Given the description of an element on the screen output the (x, y) to click on. 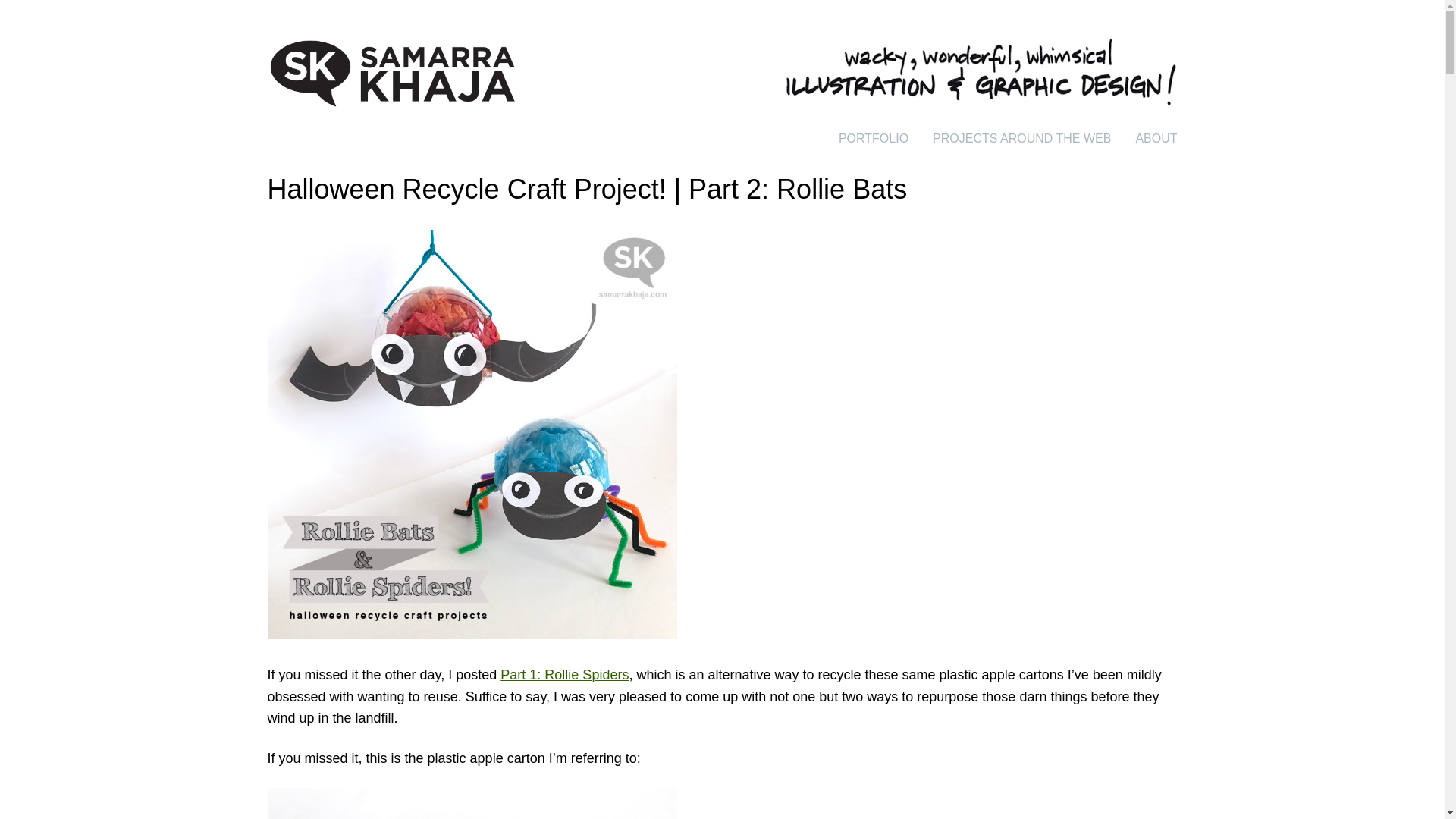
ABOUT (1155, 138)
Part 1: Rollie Spiders (564, 674)
PROJECTS AROUND THE WEB (1021, 138)
PORTFOLIO (873, 138)
